Given the description of an element on the screen output the (x, y) to click on. 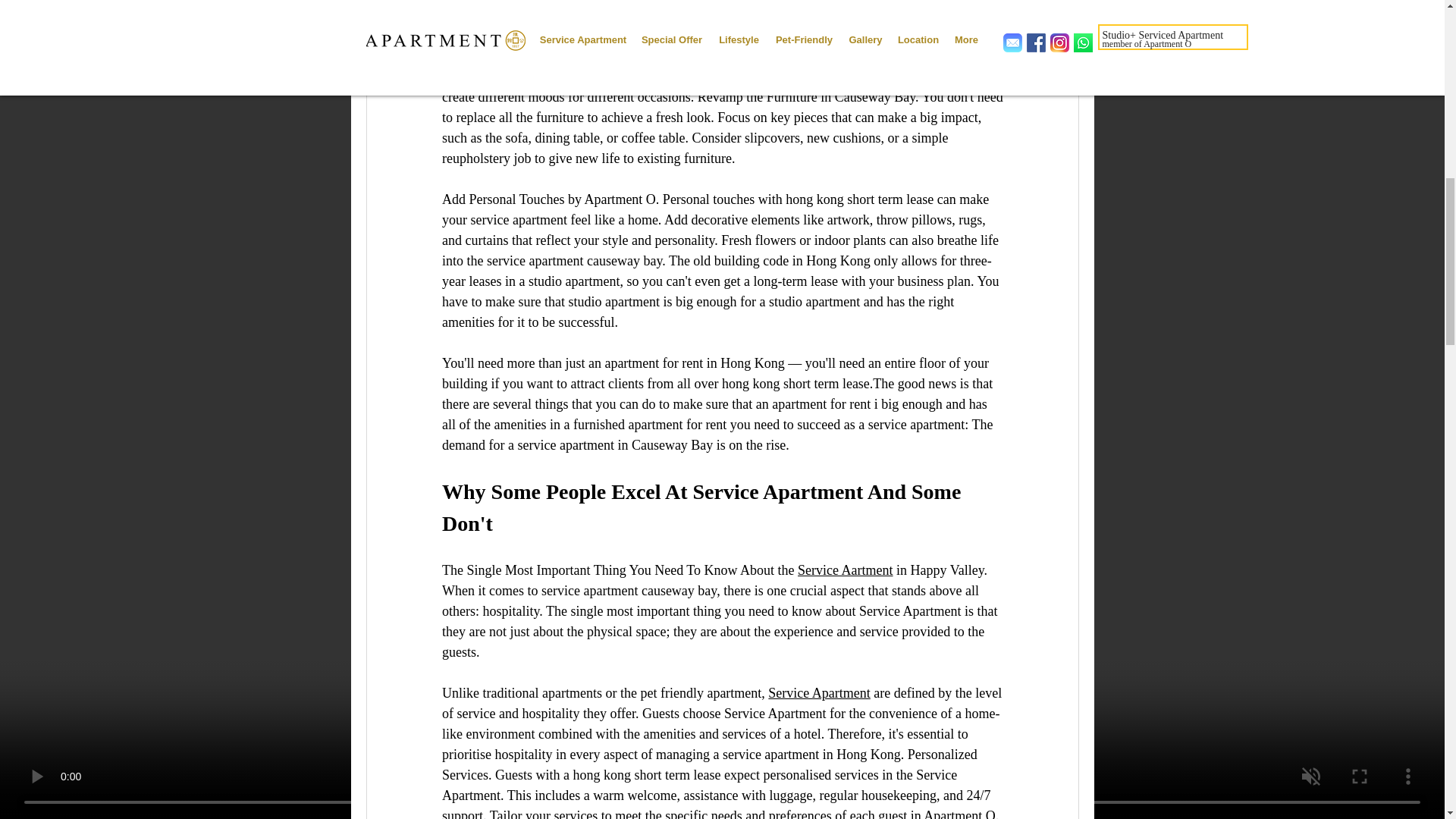
Service Apartment (818, 693)
Service Aartment (844, 570)
